Given the description of an element on the screen output the (x, y) to click on. 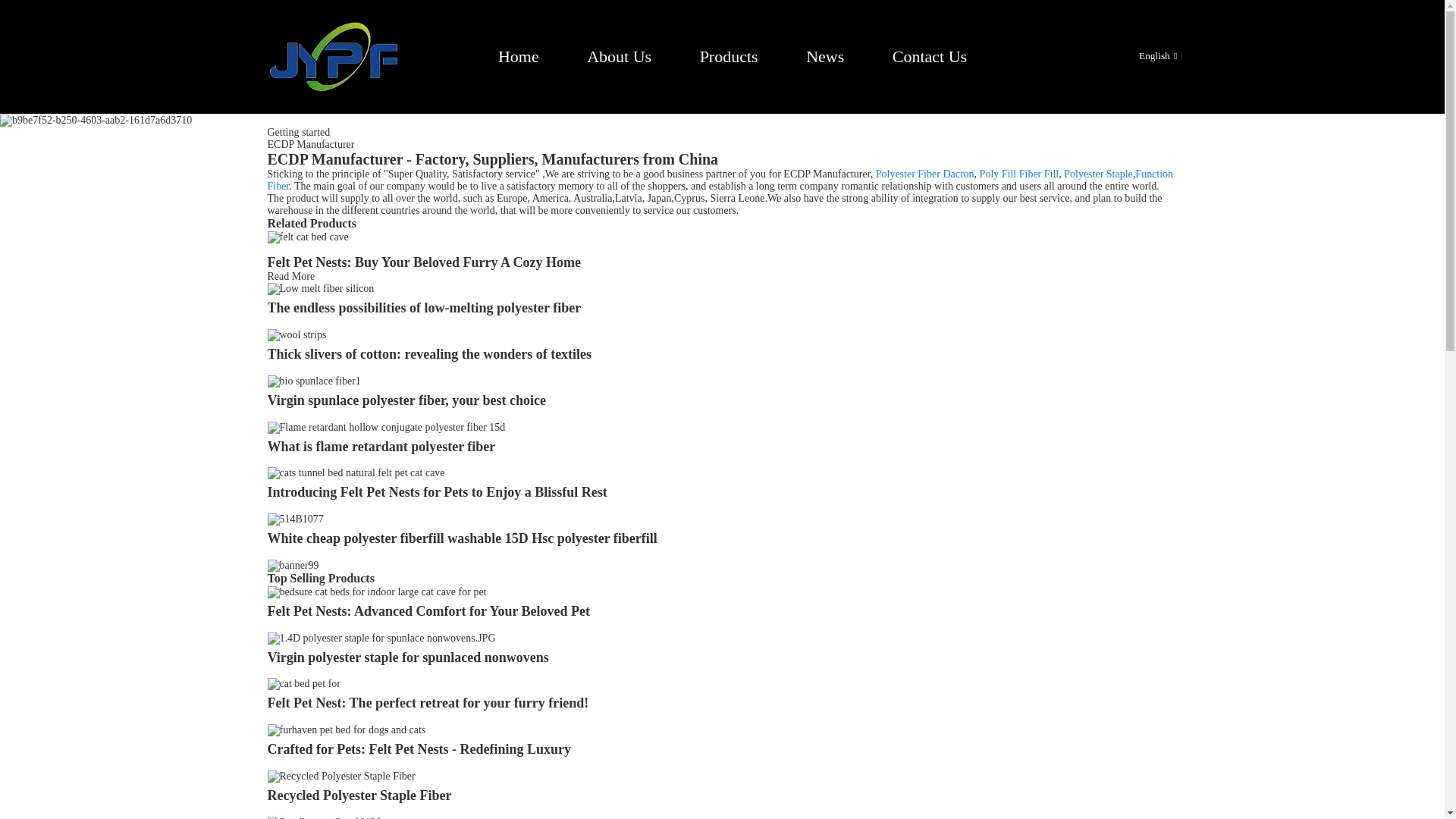
The endless possibilities of low-melting polyester fiber (423, 307)
Function Fiber (719, 179)
Felt Pet Nests: Buy Your Beloved Furry A Cozy Home (422, 262)
ECDP Manufacturer (309, 143)
The endless possibilities of low-melting polyester fiber (320, 288)
Felt Pet Nests: Buy Your Beloved Furry A Cozy Home (290, 276)
Virgin spunlace polyester fiber, your best choice (406, 400)
What is flame retardant polyester fiber (385, 426)
Thick slivers of cotton: revealing the wonders of textiles (296, 333)
Read More (290, 276)
English (1144, 55)
About Us (618, 56)
The endless possibilities of low-melting polyester fiber (423, 307)
Getting started (298, 132)
Virgin spunlace polyester fiber, your best choice (312, 379)
